Given the description of an element on the screen output the (x, y) to click on. 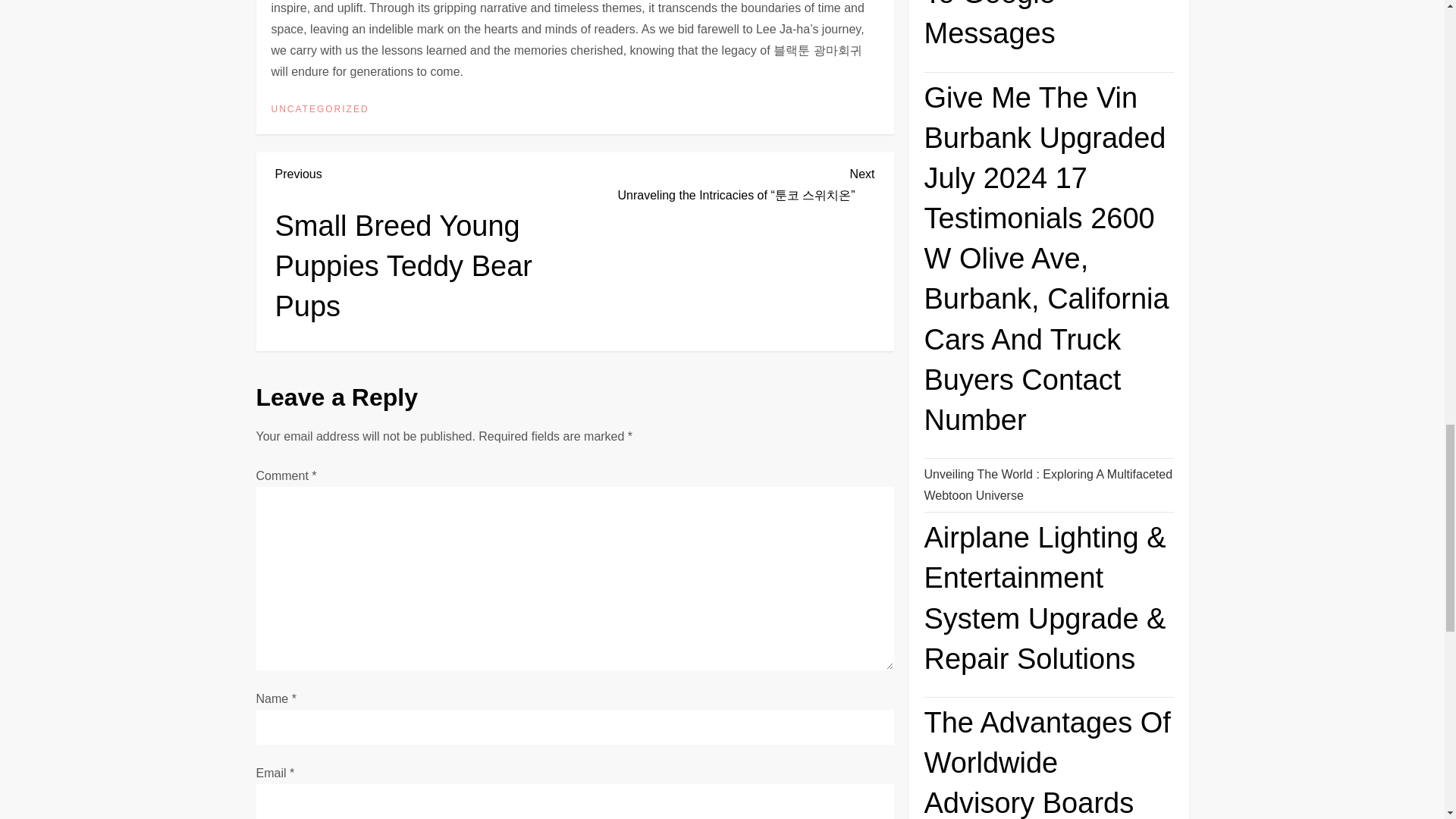
UNCATEGORIZED (319, 110)
